Given the description of an element on the screen output the (x, y) to click on. 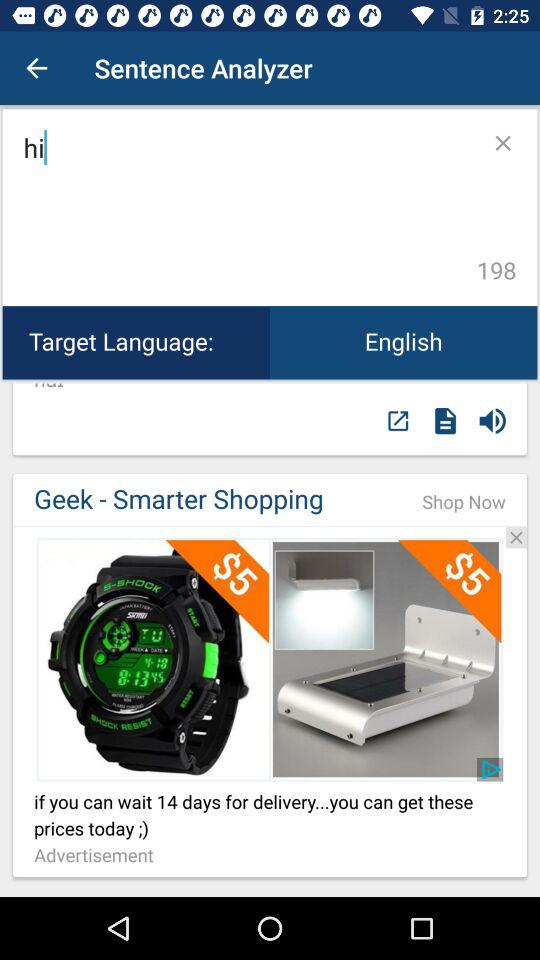
advertisement website (269, 659)
